Given the description of an element on the screen output the (x, y) to click on. 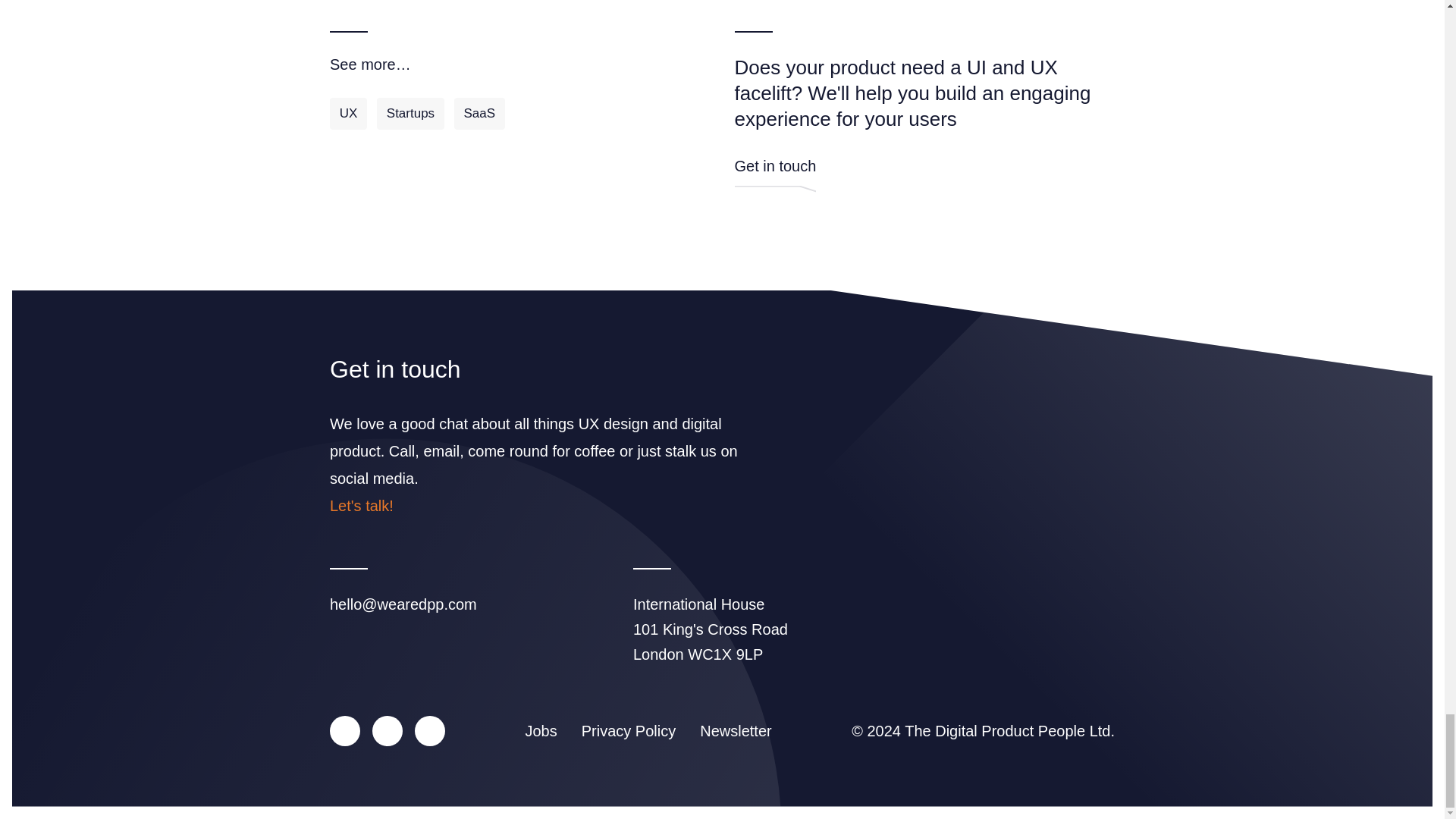
Privacy Policy (628, 730)
SaaS (479, 113)
UX (348, 113)
Get in touch (774, 175)
Newsletter (735, 730)
Startups (410, 113)
Let's talk! (361, 505)
Jobs (539, 730)
